Given the description of an element on the screen output the (x, y) to click on. 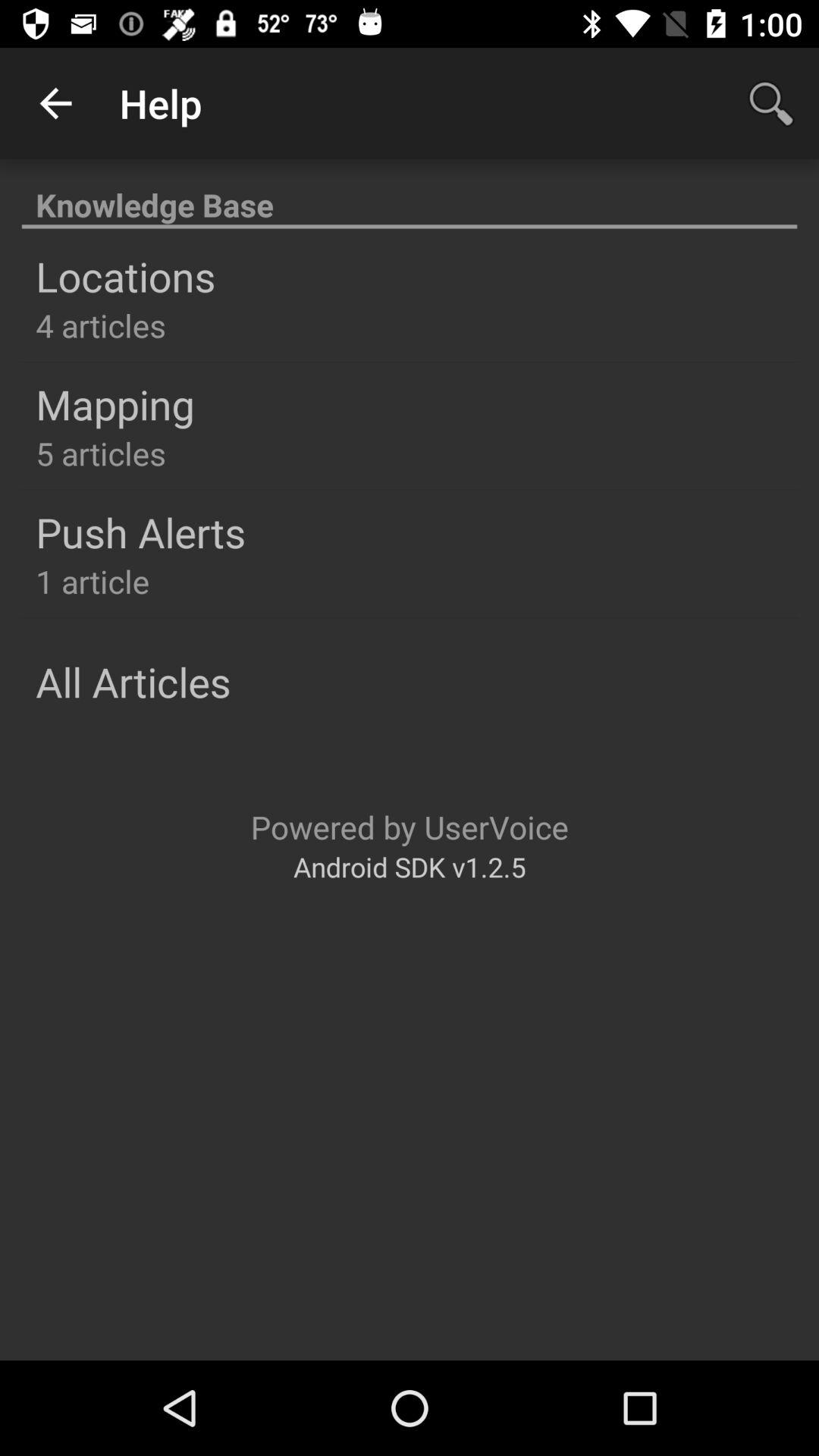
choose icon above 4 articles icon (125, 275)
